Given the description of an element on the screen output the (x, y) to click on. 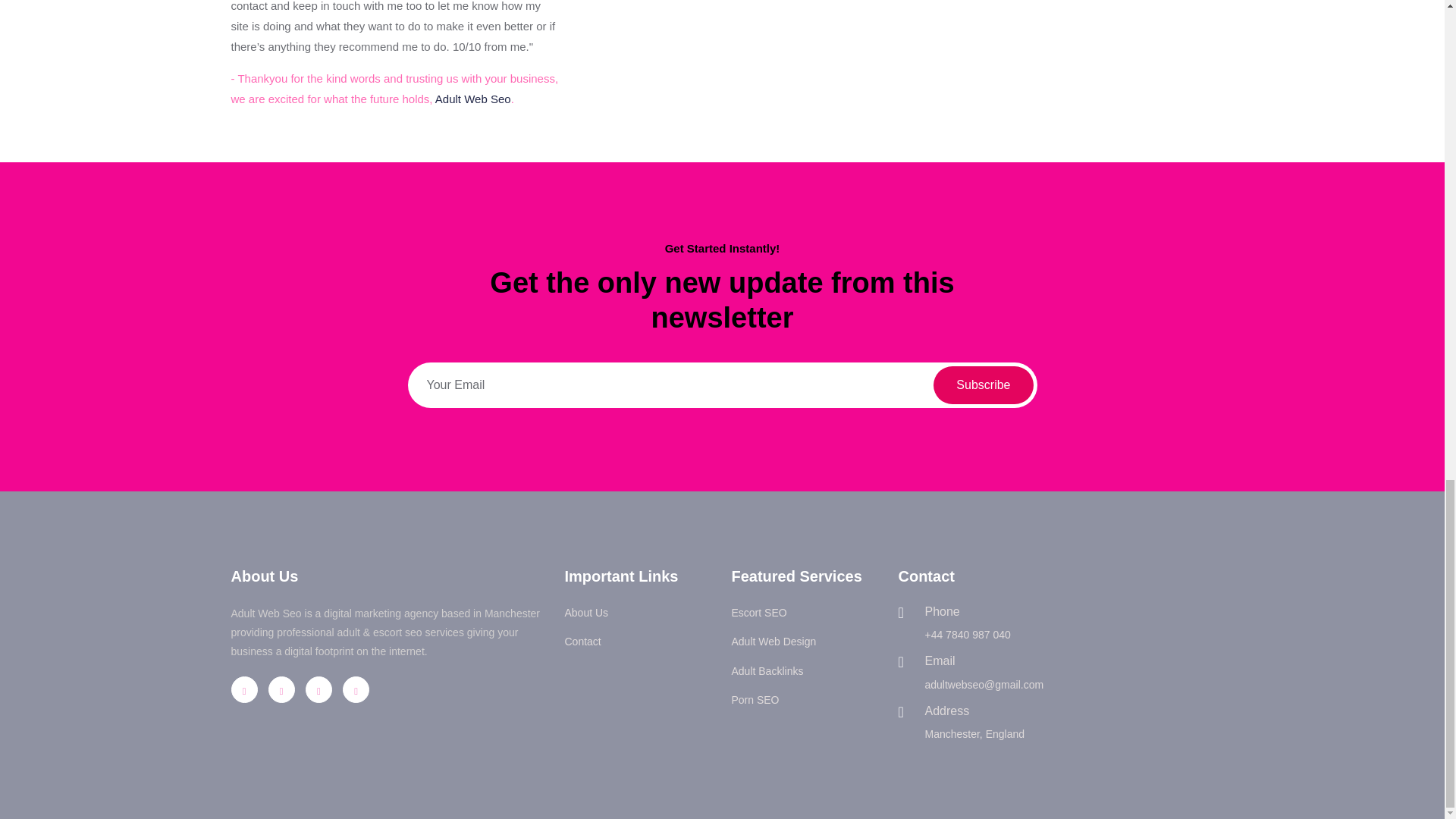
About Us (586, 612)
Adult Web Seo (473, 98)
Adult Web Seo (473, 98)
Subscribe (982, 385)
